Given the description of an element on the screen output the (x, y) to click on. 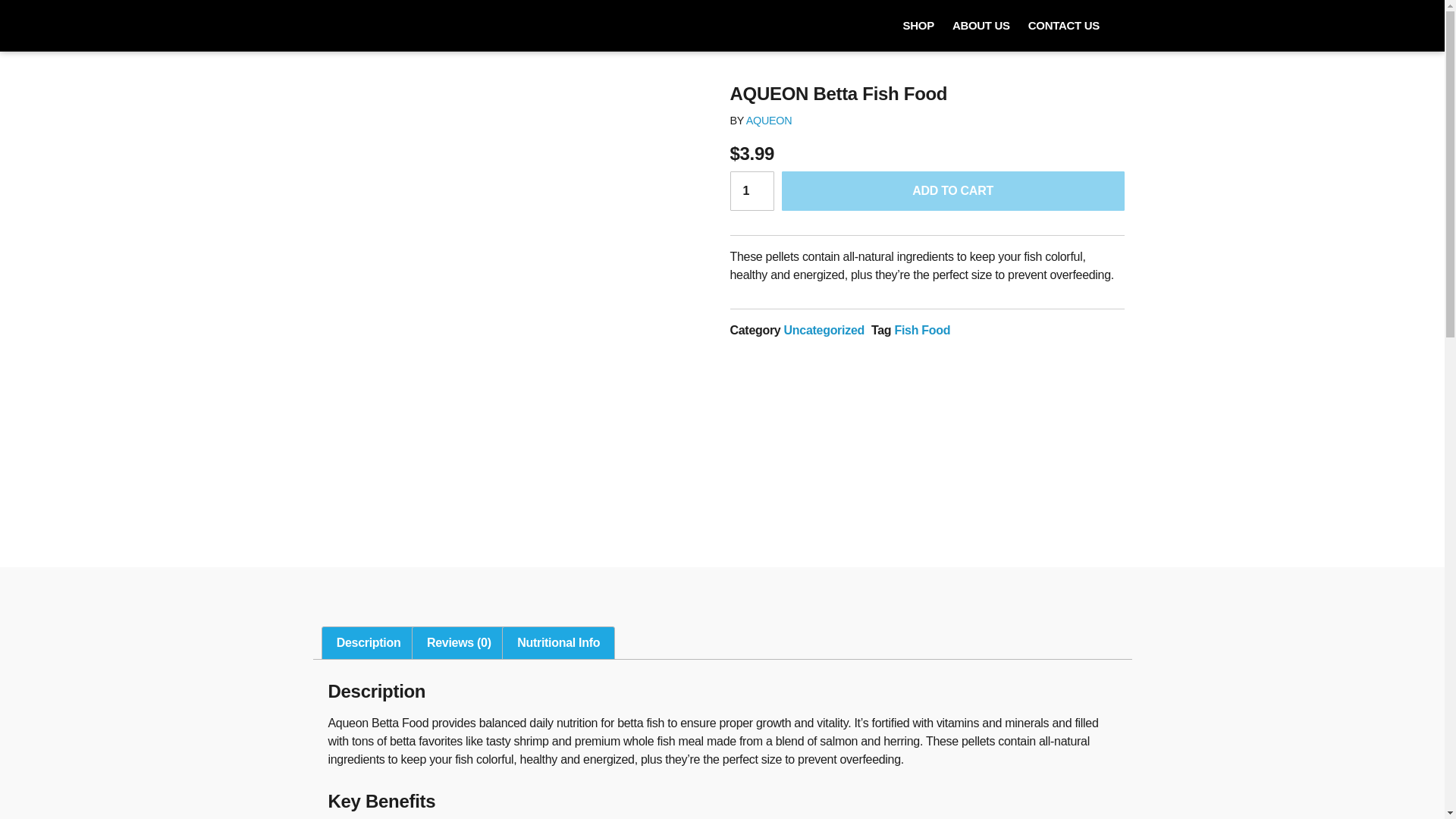
SHOP (918, 25)
CONTACT US (1063, 25)
1 (751, 190)
ABOUT US (981, 25)
